Given the description of an element on the screen output the (x, y) to click on. 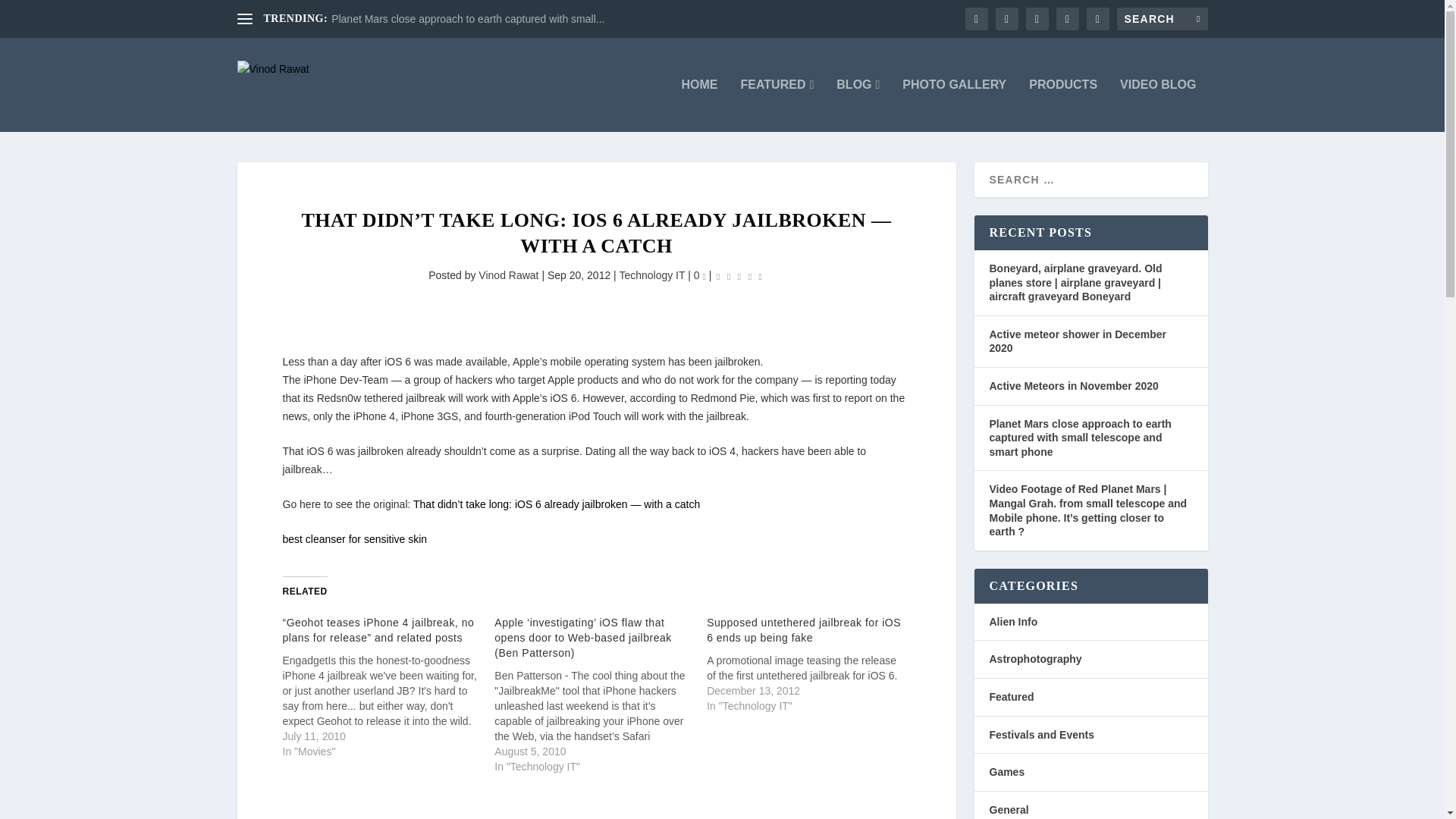
comment count (702, 276)
Planet Mars close approach to earth captured with small... (467, 19)
Search for: (1161, 18)
Posts by Vinod Rawat (508, 275)
HOME (699, 104)
FEATURED (777, 104)
